Given the description of an element on the screen output the (x, y) to click on. 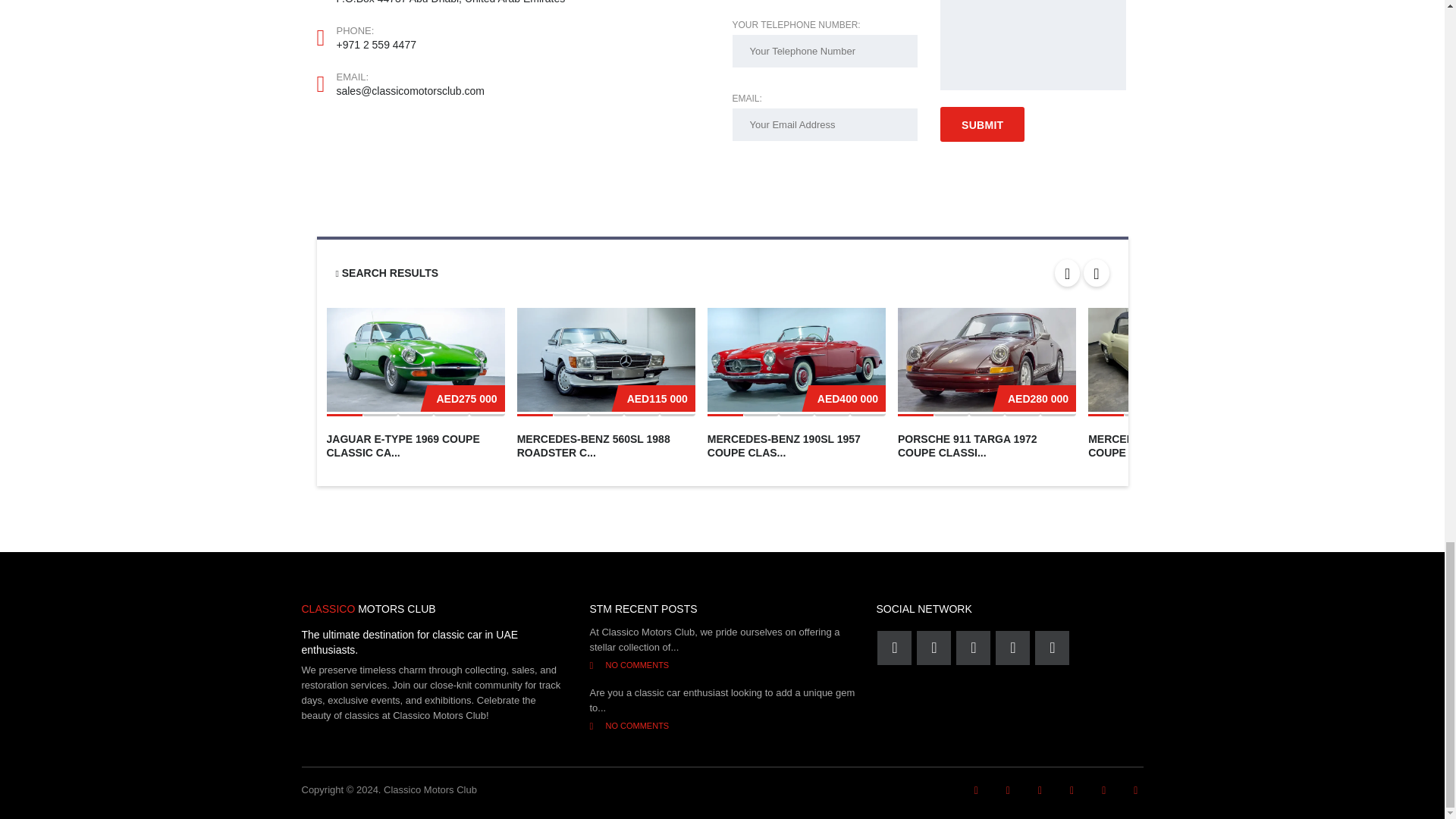
Submit (982, 124)
